Given the description of an element on the screen output the (x, y) to click on. 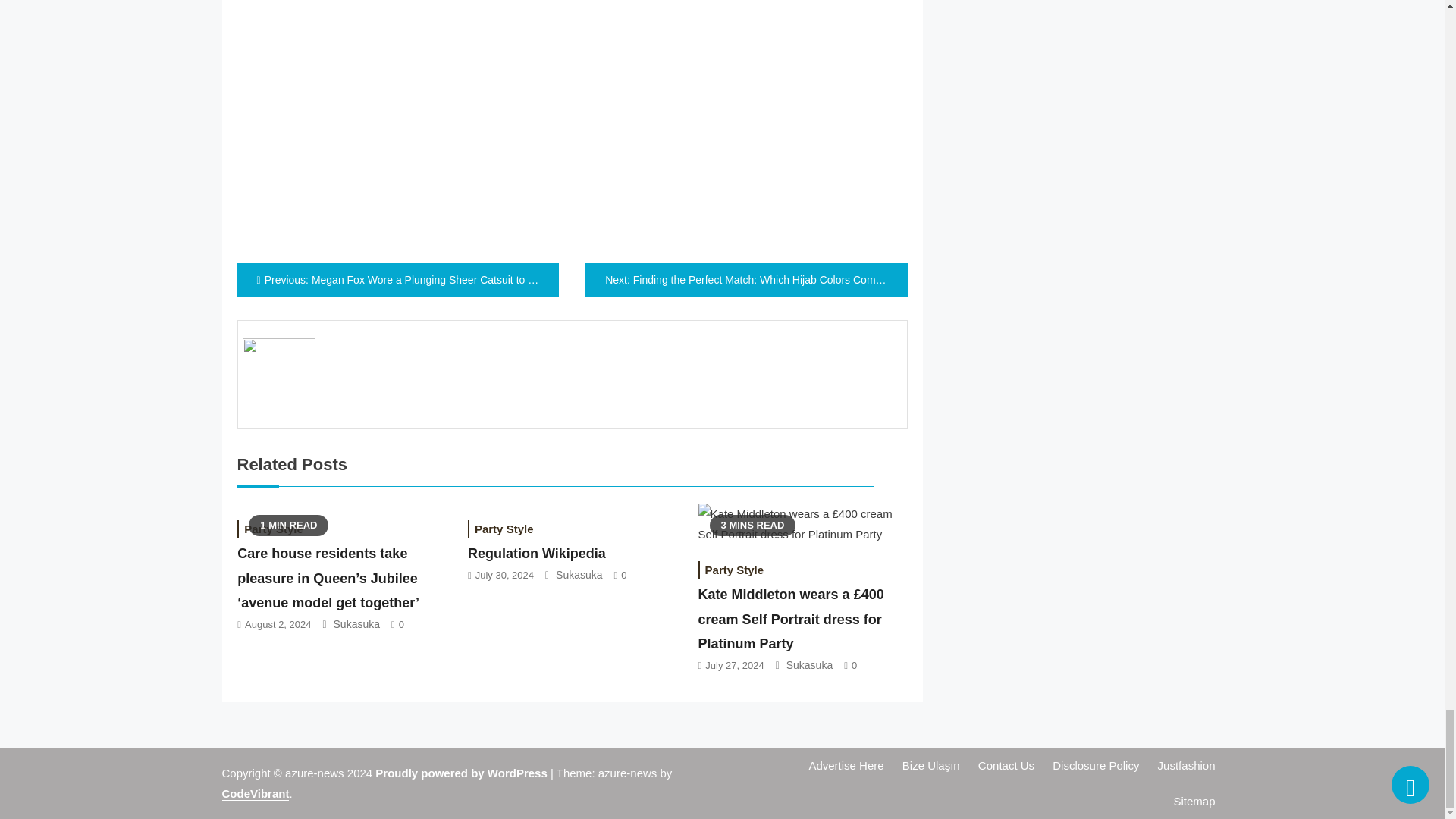
Sukasuka (356, 623)
July 27, 2024 (733, 665)
July 30, 2024 (505, 574)
Party Style (273, 528)
August 2, 2024 (277, 624)
Party Style (734, 569)
Sukasuka (809, 664)
Regulation Wikipedia (536, 553)
Party Style (503, 528)
Sukasuka (579, 574)
